Given the description of an element on the screen output the (x, y) to click on. 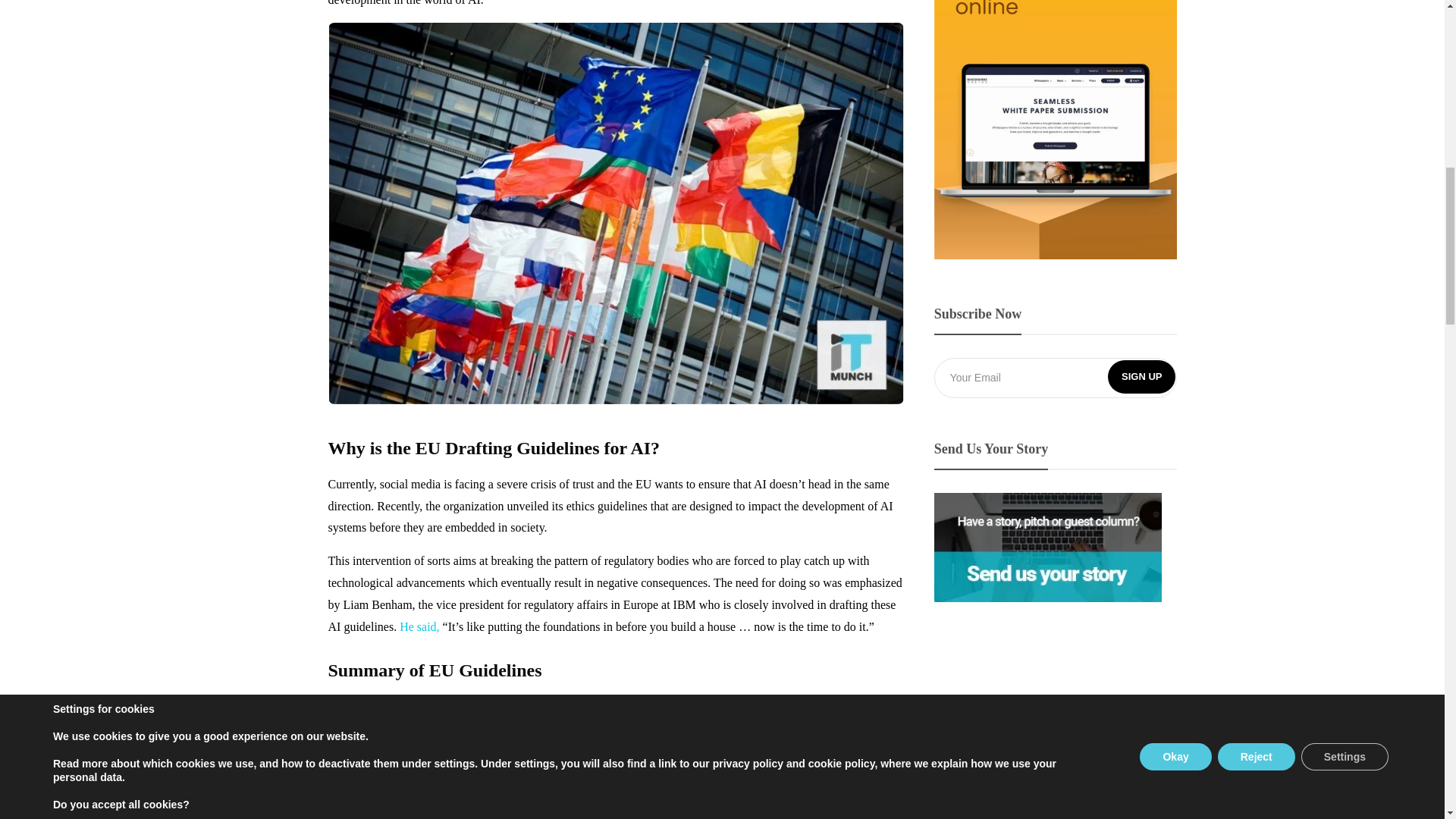
Sign Up (1141, 376)
